Given the description of an element on the screen output the (x, y) to click on. 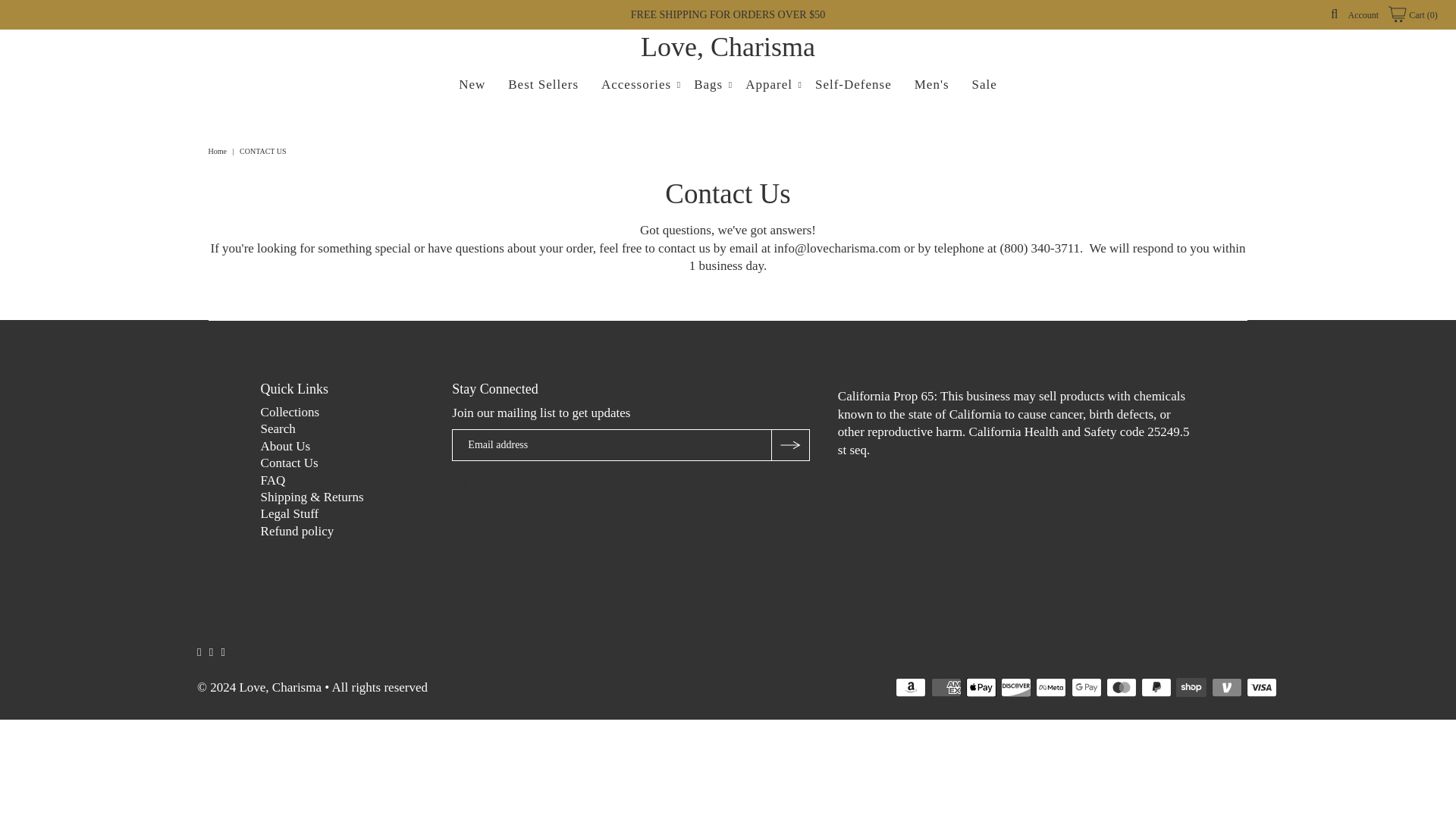
PayPal (1156, 687)
Amazon (910, 687)
Venmo (1226, 687)
American Express (945, 687)
Discover (1015, 687)
Visa (1261, 687)
Apple Pay (980, 687)
Google Pay (1086, 687)
Meta Pay (1050, 687)
Home (219, 151)
Mastercard (1121, 687)
Shop Pay (1191, 687)
